Given the description of an element on the screen output the (x, y) to click on. 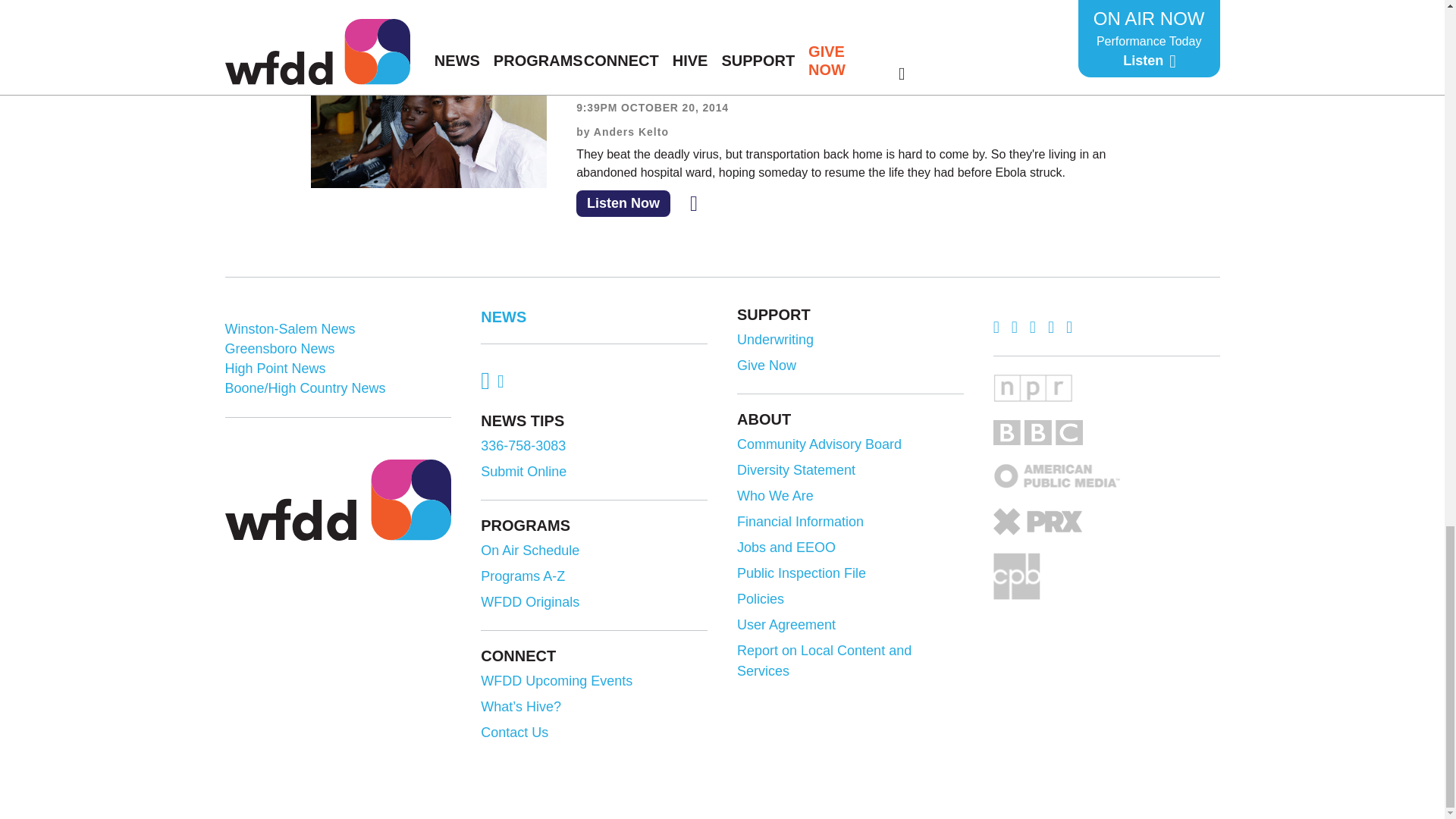
Community Advisory Board (847, 444)
Home (337, 499)
